Given the description of an element on the screen output the (x, y) to click on. 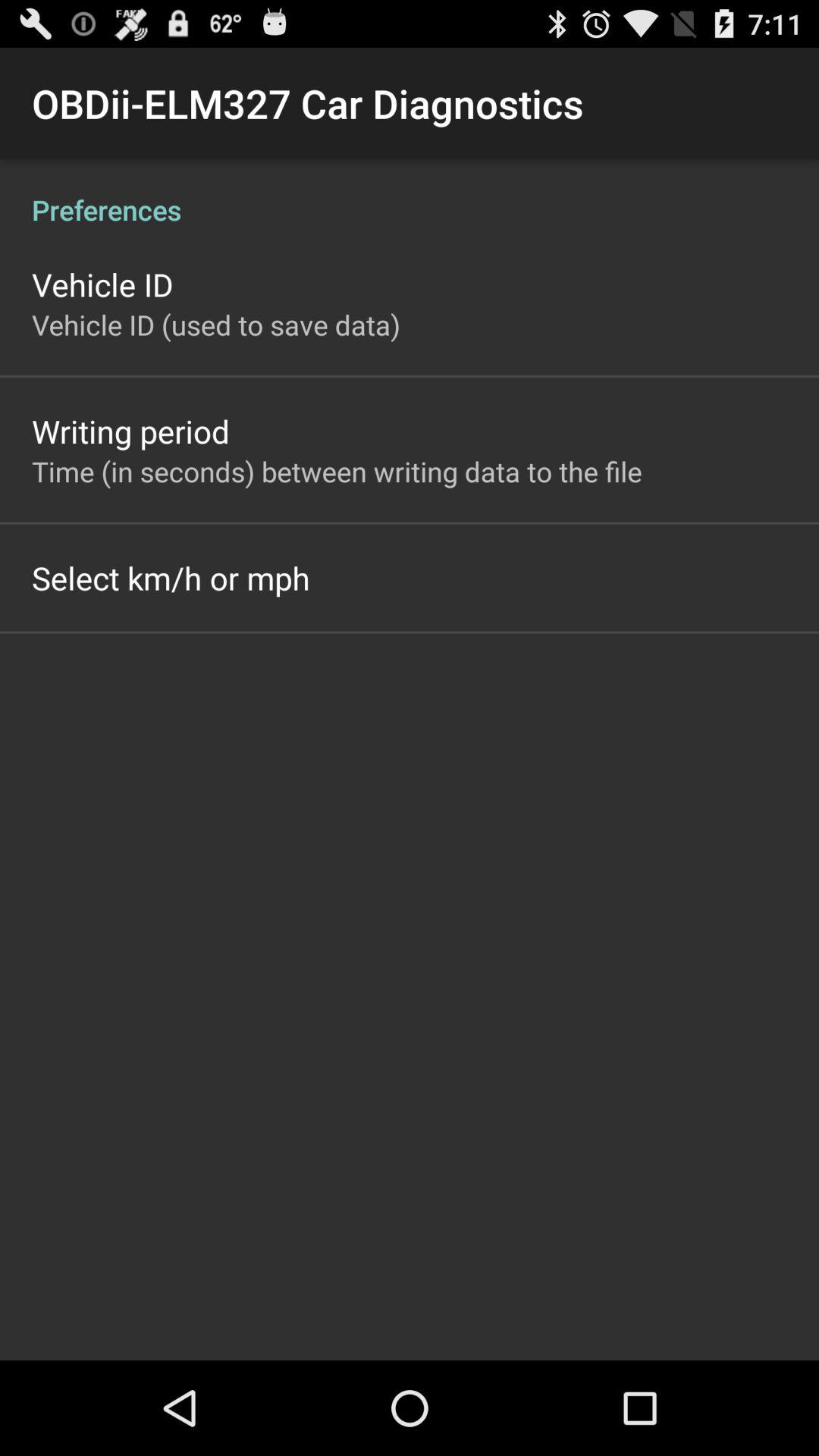
choose the item above the vehicle id icon (409, 193)
